Given the description of an element on the screen output the (x, y) to click on. 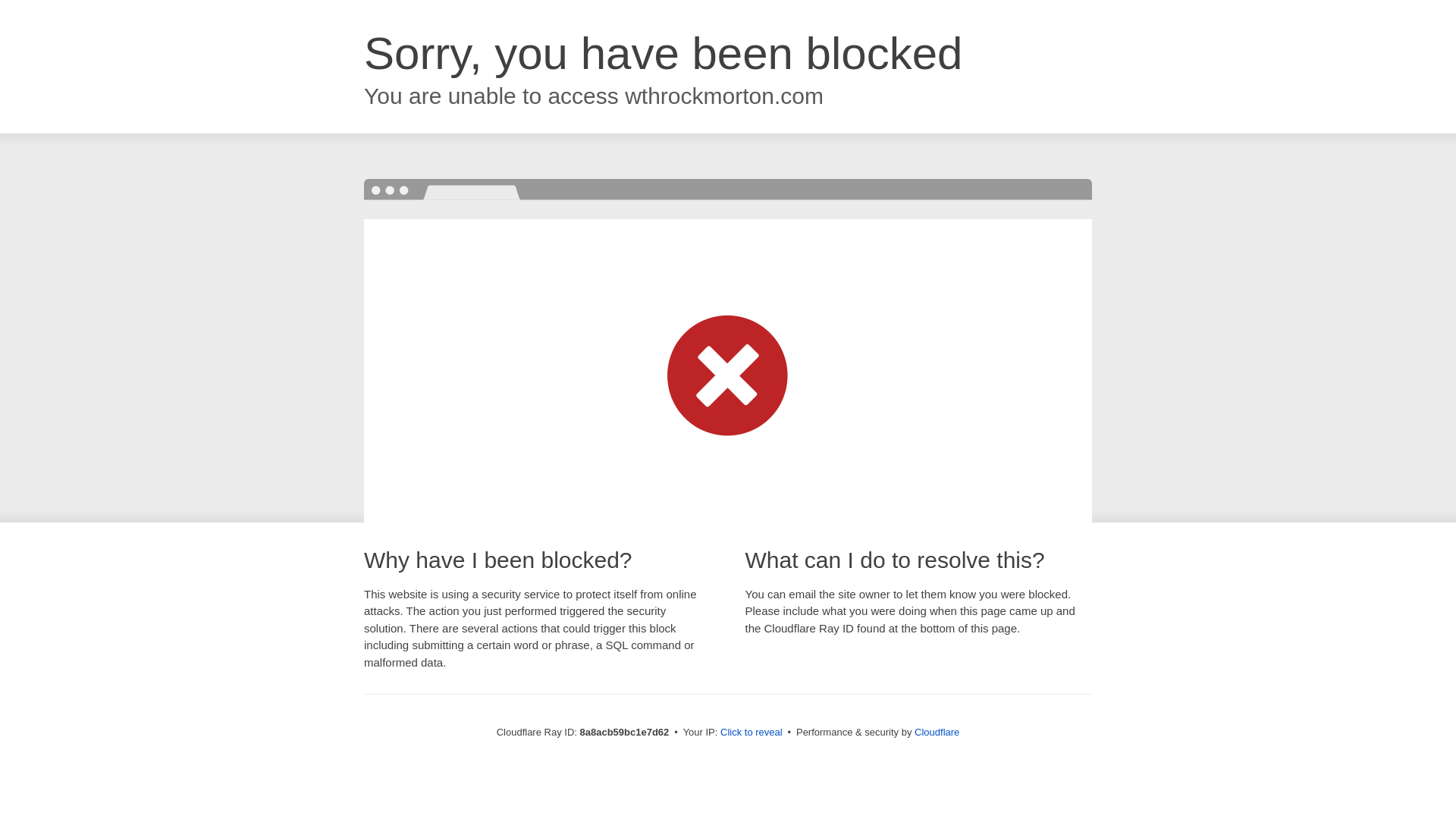
Cloudflare (936, 731)
Click to reveal (751, 732)
